Given the description of an element on the screen output the (x, y) to click on. 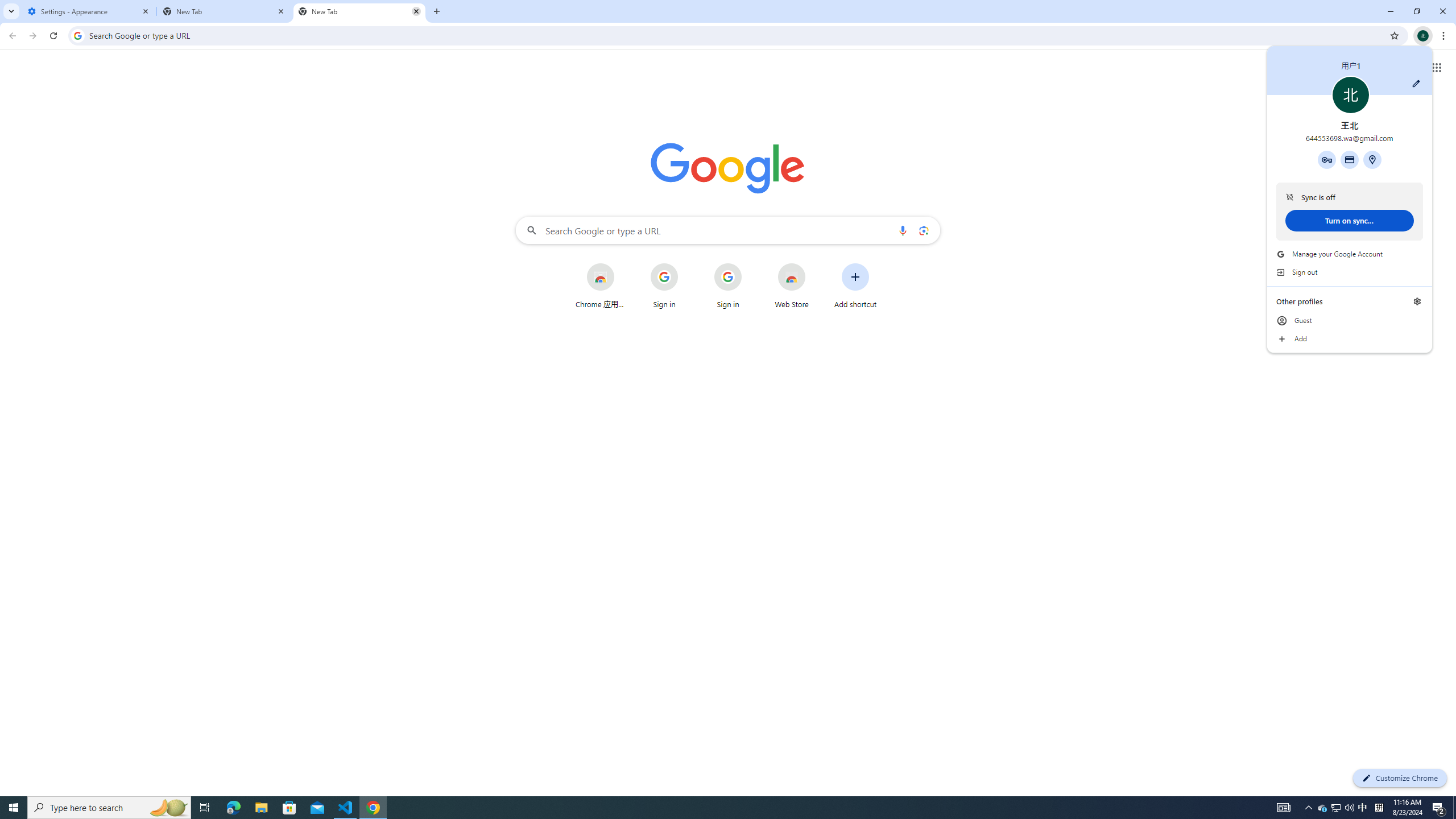
Add (1349, 339)
Q2790: 100% (1349, 807)
Manage profiles (1417, 301)
Type here to search (108, 807)
More actions for Sign in shortcut (750, 264)
Manage your Google Account (1349, 253)
Task View (204, 807)
Sign out (1349, 272)
User Promoted Notification Area (1336, 807)
Payment methods (1349, 159)
